Given the description of an element on the screen output the (x, y) to click on. 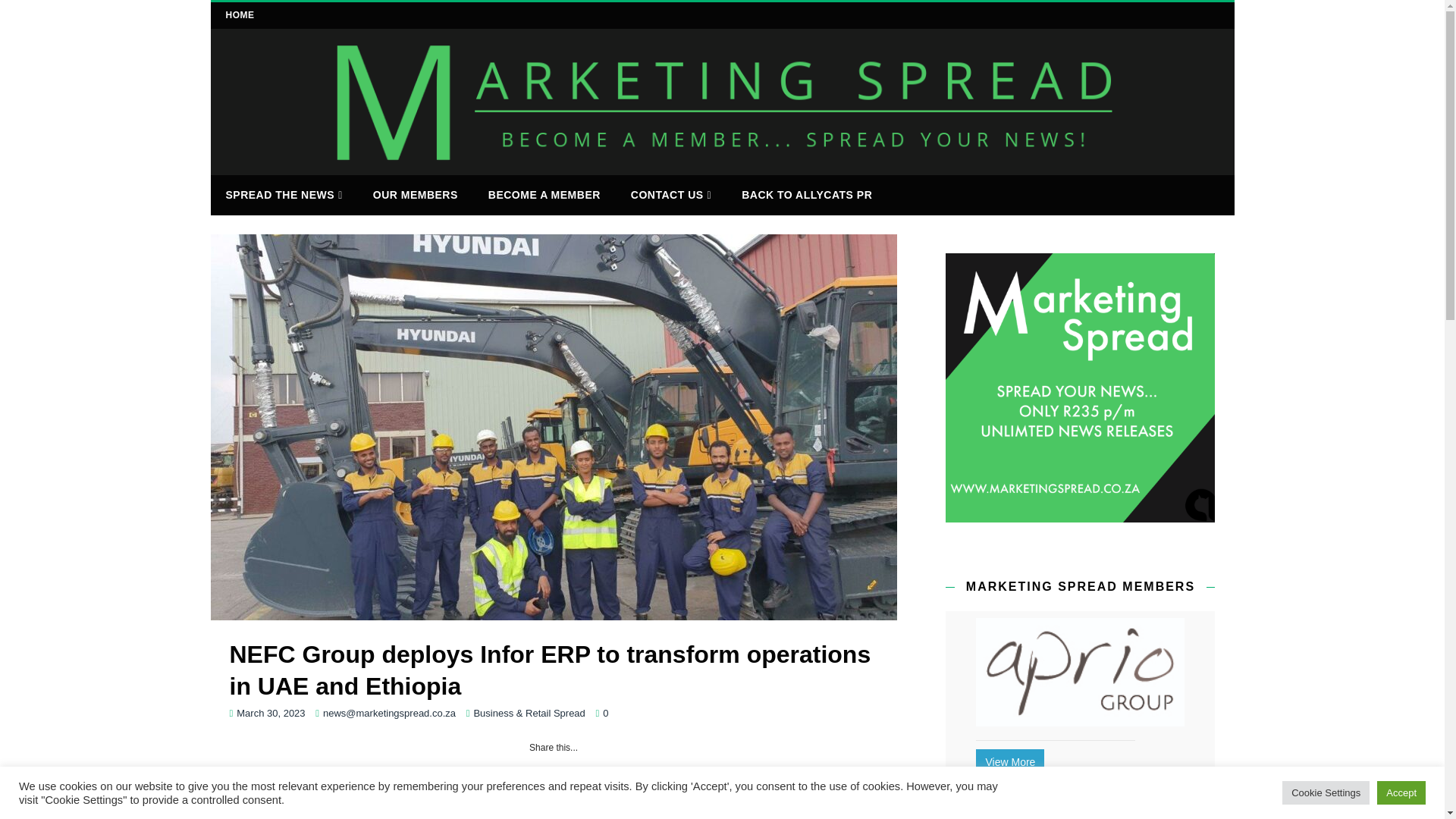
CONTACT US (670, 195)
BECOME A MEMBER (544, 194)
SPREAD THE NEWS (284, 195)
OUR MEMBERS (415, 194)
BACK TO ALLYCATS PR (806, 194)
March 30, 2023 (269, 713)
HOME (240, 15)
Marketing Spread (722, 165)
